Given the description of an element on the screen output the (x, y) to click on. 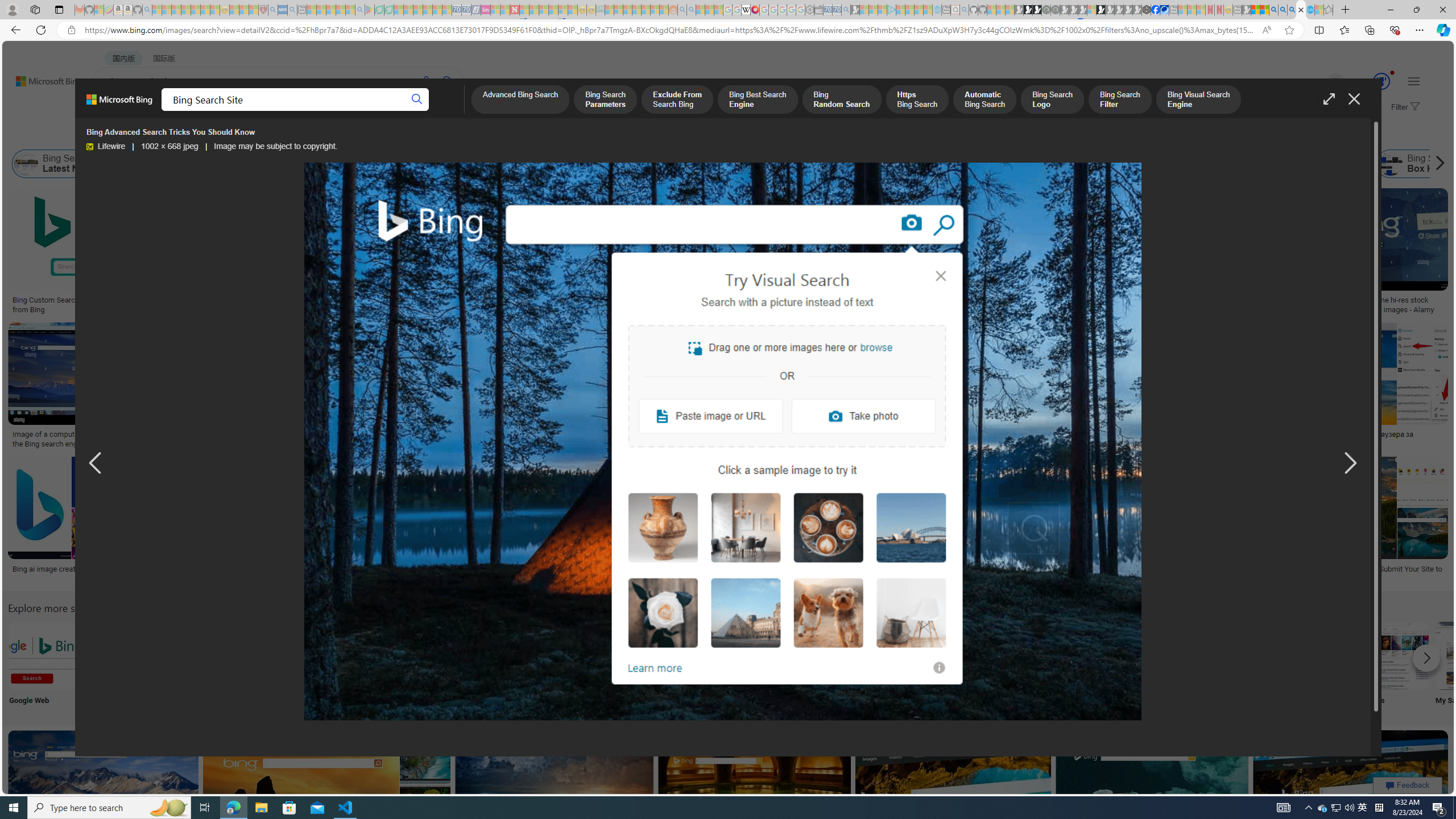
Who Made Bing Search Engine (1021, 163)
Bing ai image creator (47, 568)
Sign in to your account - Sleeping (1090, 9)
Bing Random Search (841, 100)
Bing Search Site - Search Images (1300, 9)
Bing - SEOLend (280, 299)
Google Web (42, 665)
20 Reasons to Search With Bing | PCMagSave (650, 252)
AirNow.gov (1163, 9)
Type (212, 135)
Bing Best Search Engine (776, 163)
Show Bing Search Engine (505, 163)
